Given the description of an element on the screen output the (x, y) to click on. 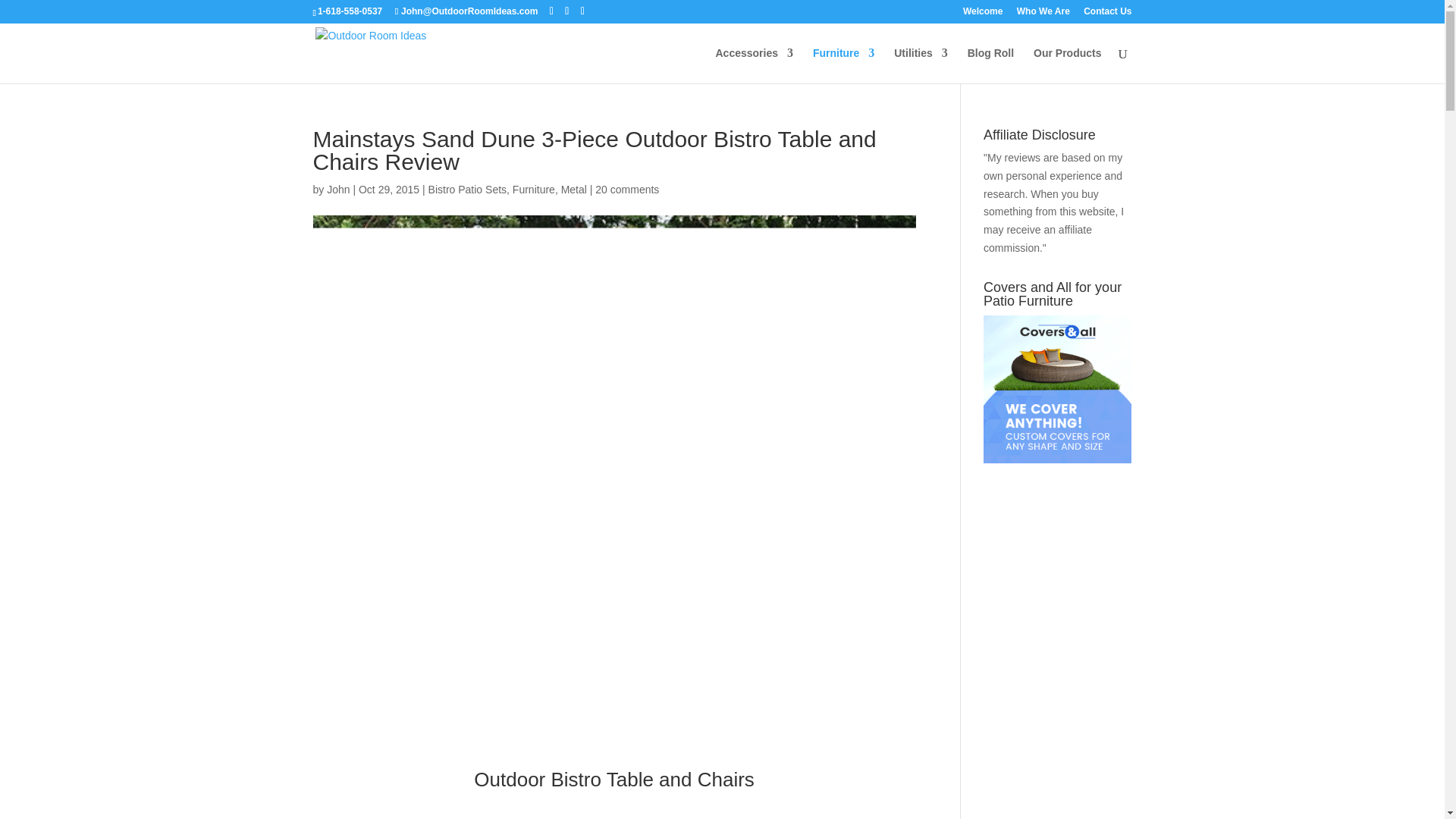
Who We Are (1043, 14)
Welcome (982, 14)
Posts by John (337, 189)
Accessories (753, 65)
Contact Us (1107, 14)
